Given the description of an element on the screen output the (x, y) to click on. 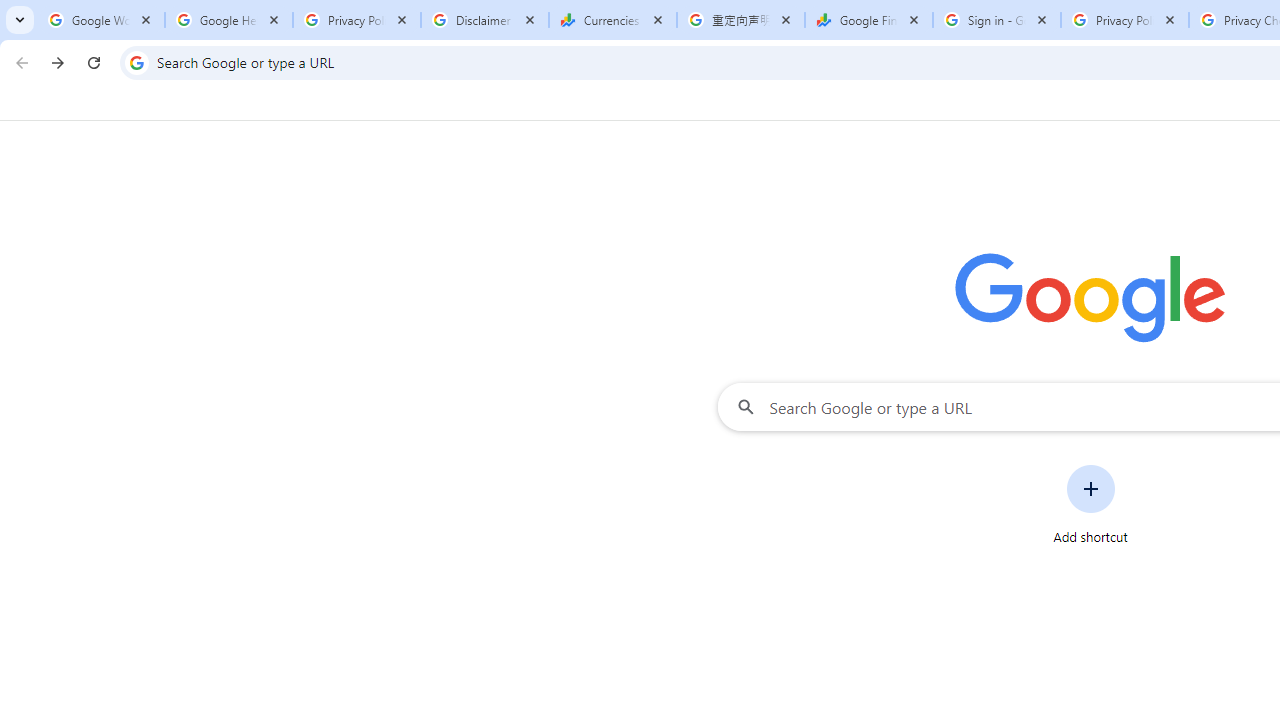
Currencies - Google Finance (613, 20)
Google Workspace Admin Community (101, 20)
Search icon (136, 62)
Sign in - Google Accounts (997, 20)
Add shortcut (1090, 504)
